Given the description of an element on the screen output the (x, y) to click on. 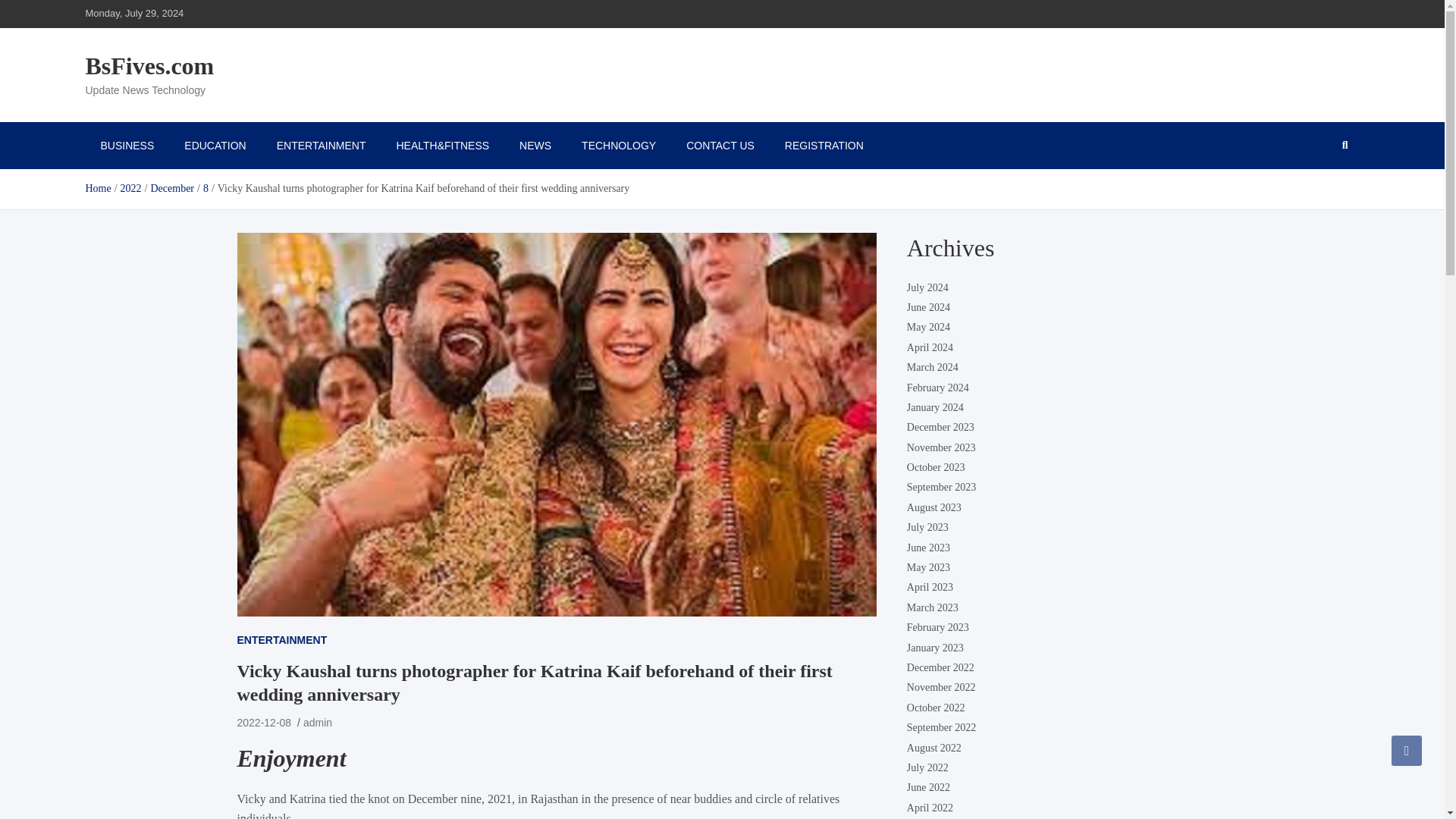
BsFives.com (149, 65)
July 2024 (928, 286)
December 2023 (940, 427)
NEWS (534, 145)
May 2024 (928, 326)
REGISTRATION (824, 145)
ENTERTAINMENT (321, 145)
Home (97, 188)
March 2024 (932, 367)
admin (316, 722)
CONTACT US (720, 145)
February 2024 (938, 387)
September 2023 (941, 487)
TECHNOLOGY (618, 145)
November 2023 (941, 446)
